Given the description of an element on the screen output the (x, y) to click on. 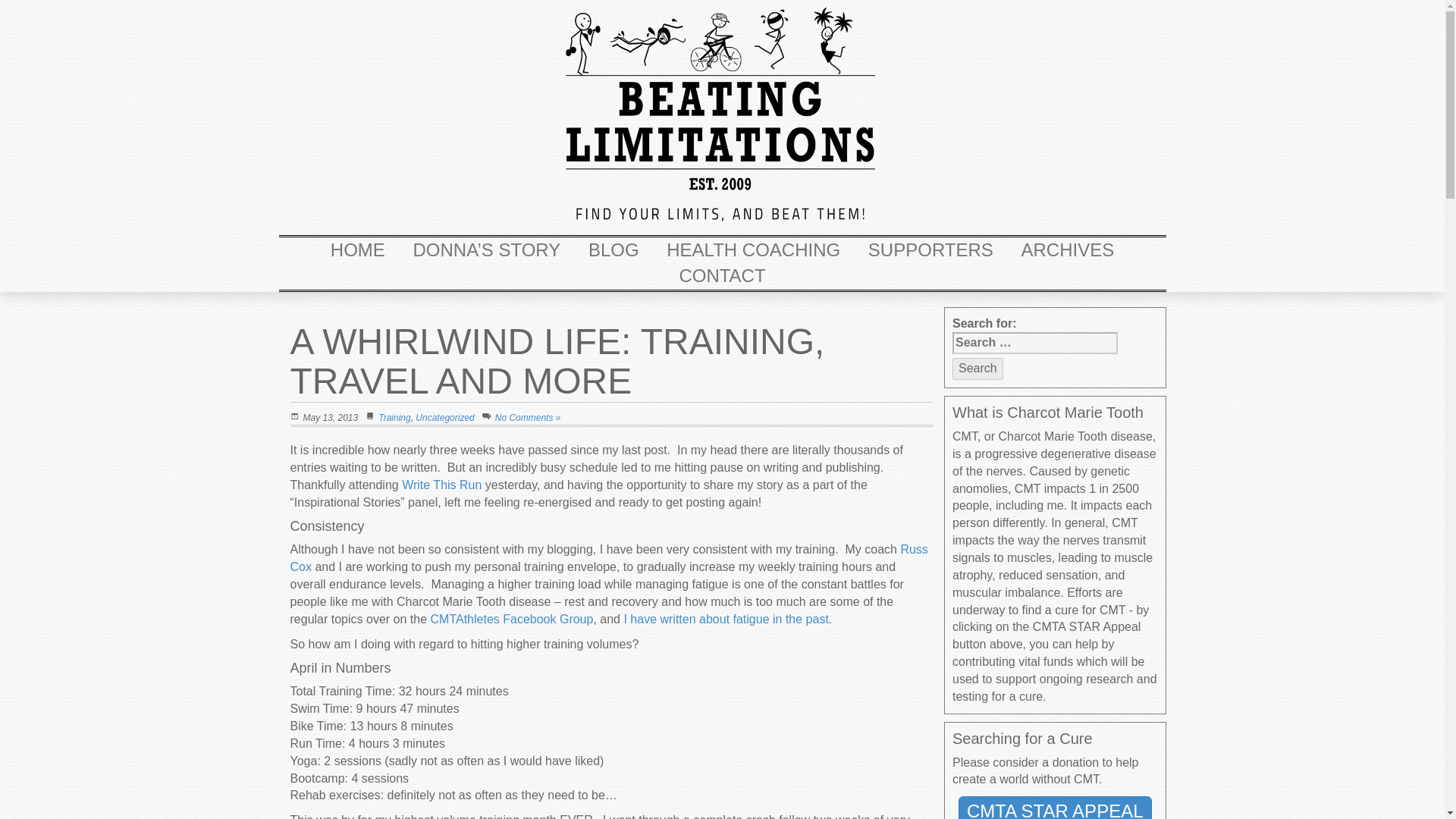
Search (977, 368)
SUPPORTERS (930, 249)
ARCHIVES (1067, 249)
Uncategorized (444, 417)
BLOG (613, 249)
Search (977, 368)
Donna's Story (486, 249)
Blog (613, 249)
I have written about fatigue in the past (725, 618)
Contact (721, 275)
CMTAthletes Facebook Group (512, 618)
Training (394, 417)
Russ Cox (608, 557)
HEALTH COACHING (753, 249)
Archives (1067, 249)
